Given the description of an element on the screen output the (x, y) to click on. 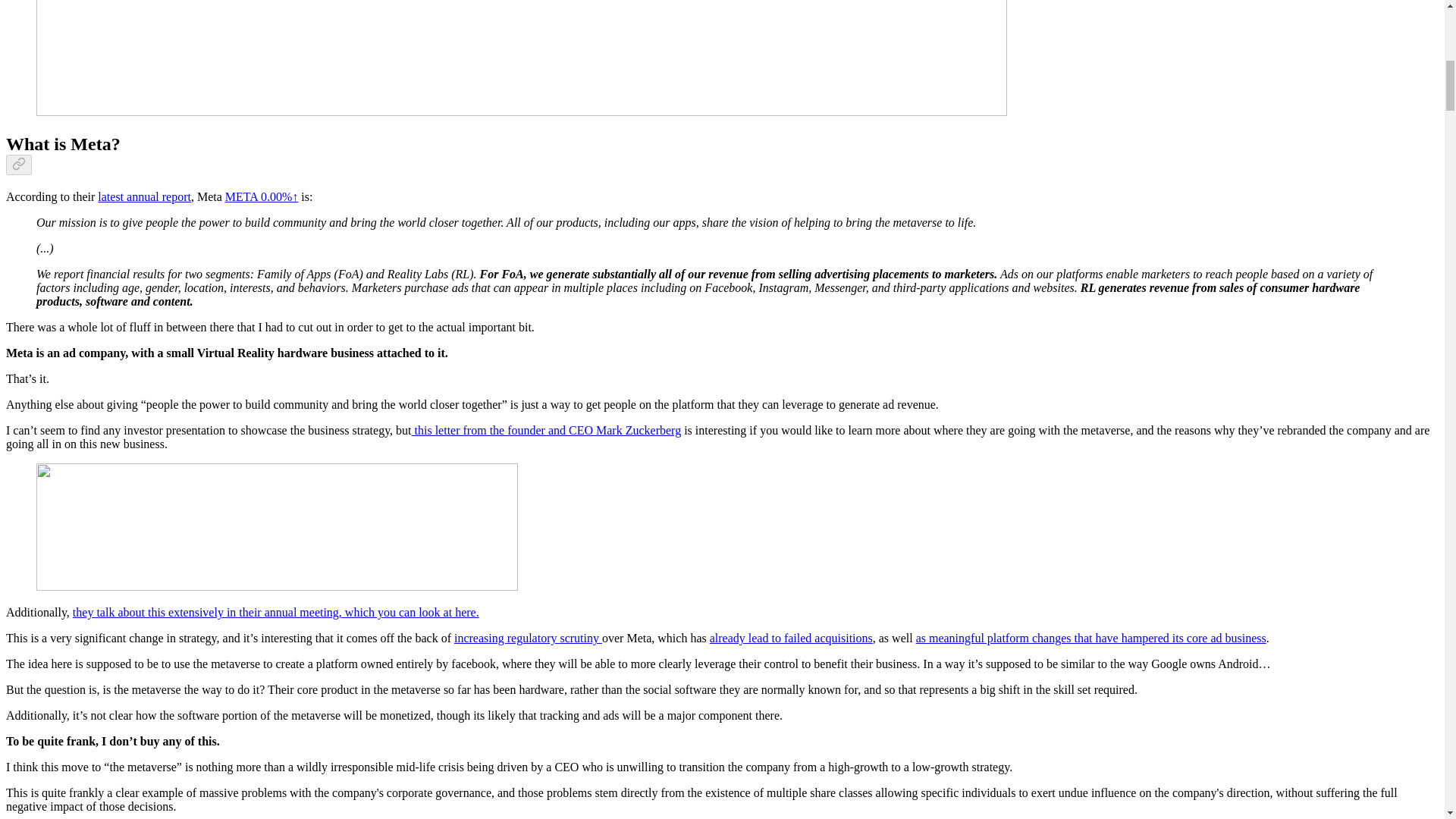
already lead to failed acquisitions (791, 637)
regulatory (533, 637)
scrutiny (580, 637)
latest annual report (143, 196)
this letter from the founder and CEO Mark Zuckerberg (546, 430)
increasing (480, 637)
